Given the description of an element on the screen output the (x, y) to click on. 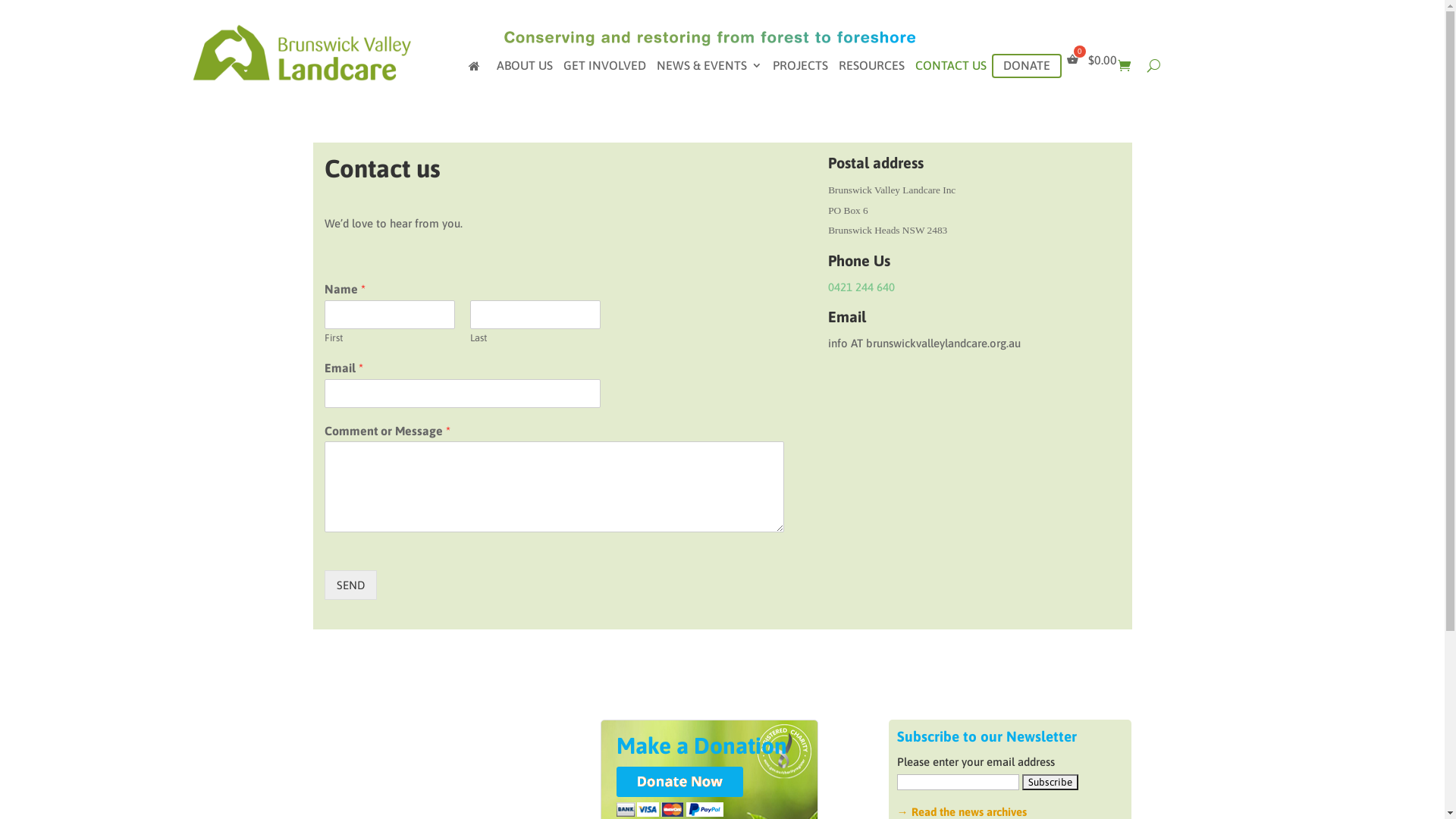
NEWS & EVENTS Element type: text (709, 68)
Subscribe Element type: text (1050, 782)
CONTACT US Element type: text (949, 68)
ABOUT US Element type: text (523, 68)
RESOURCES Element type: text (871, 68)
DONATE Element type: text (1025, 64)
$0.00 Element type: text (1091, 65)
GET INVOLVED Element type: text (603, 68)
  Element type: text (477, 68)
SEND Element type: text (350, 584)
PROJECTS Element type: text (799, 68)
0421 244 640 Element type: text (861, 286)
